Given the description of an element on the screen output the (x, y) to click on. 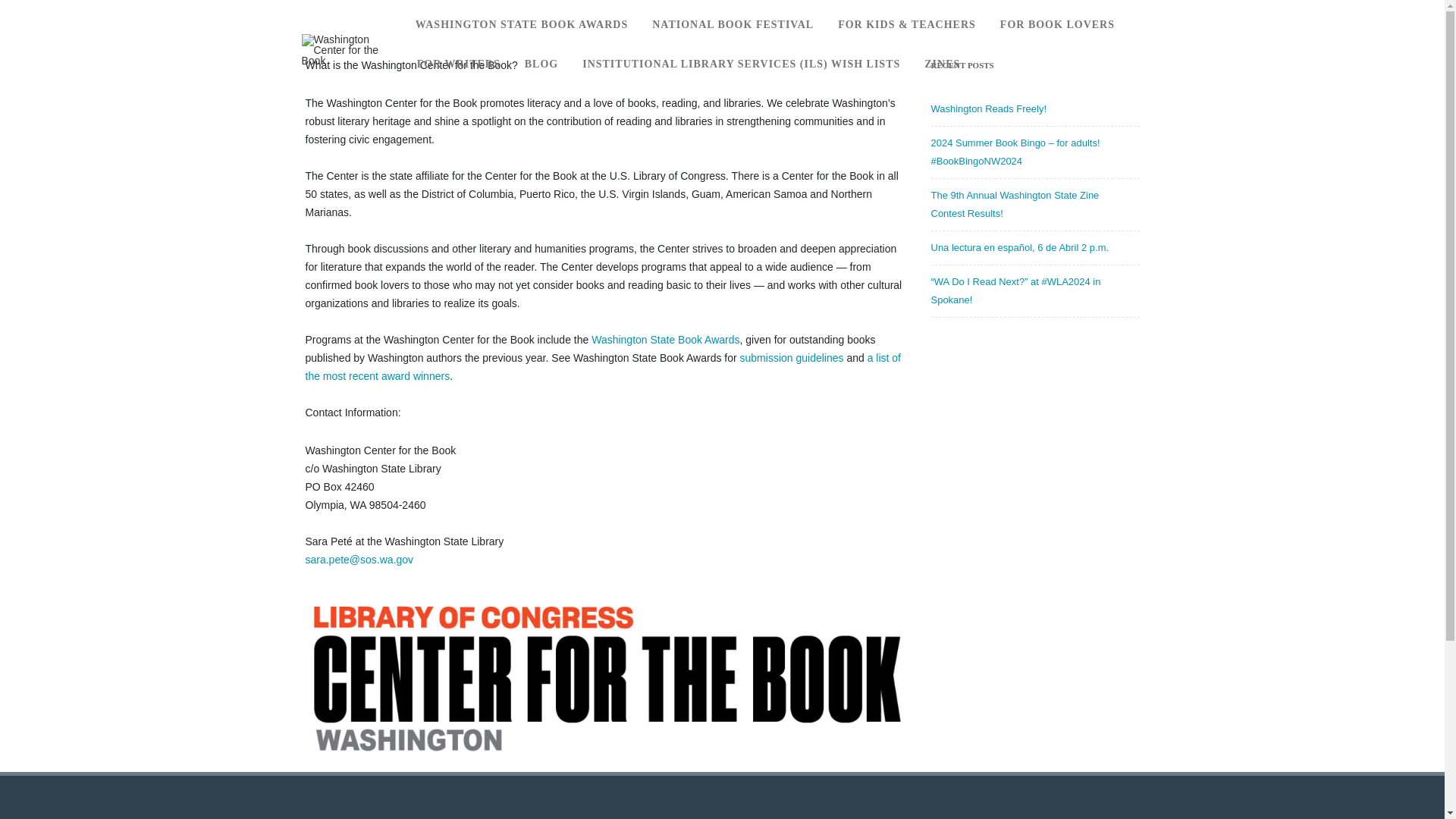
BLOG (541, 64)
FOR WRITERS (459, 64)
WASHINGTON STATE BOOK AWARDS (521, 24)
Washington Center for the Book (347, 60)
ZINES (941, 64)
NATIONAL BOOK FESTIVAL (732, 24)
FOR BOOK LOVERS (1056, 24)
